Given the description of an element on the screen output the (x, y) to click on. 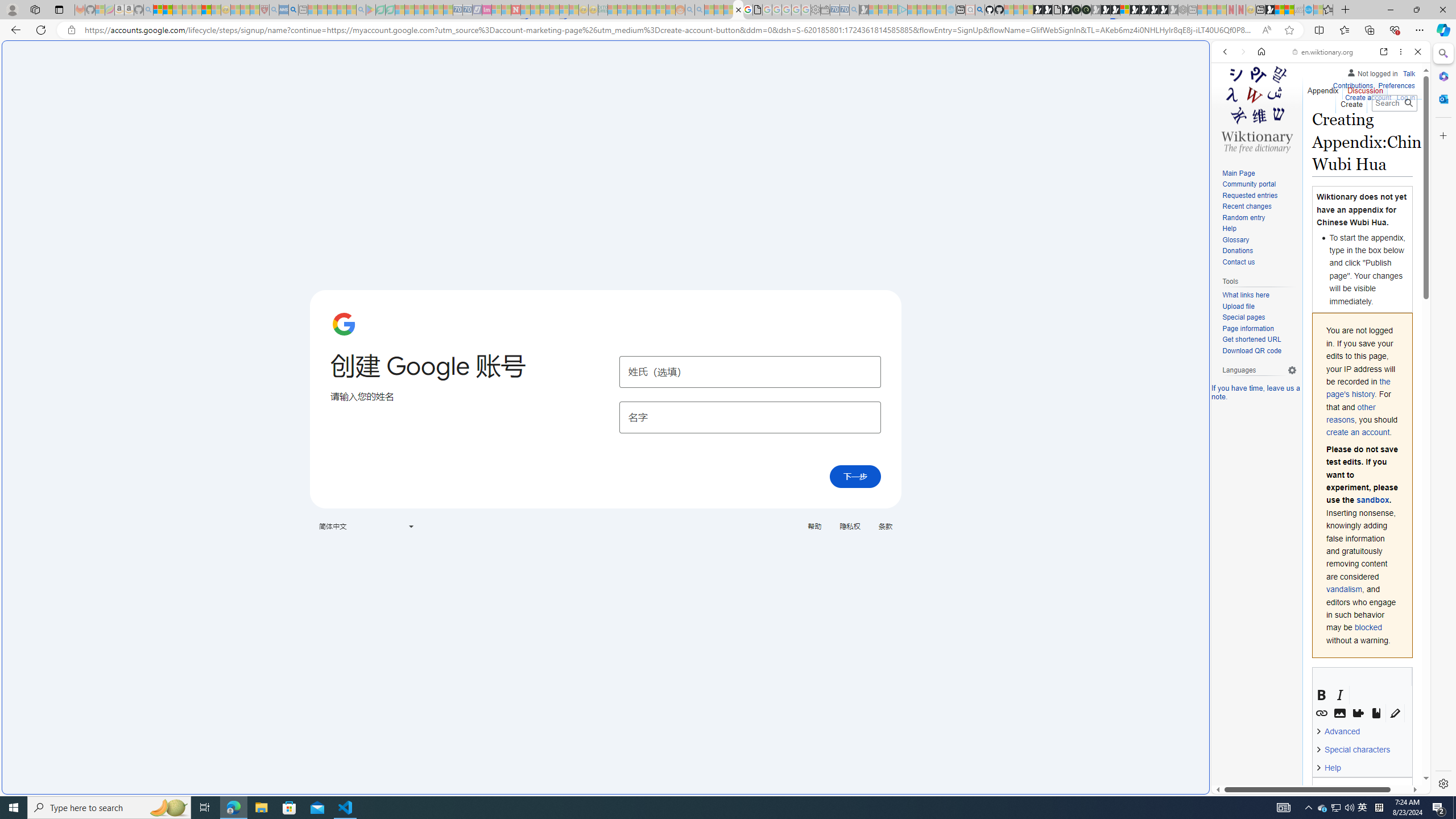
Language settings (1292, 370)
Glossary (1259, 240)
Search Wiktionary (1393, 103)
Main Page (1259, 173)
